Given the description of an element on the screen output the (x, y) to click on. 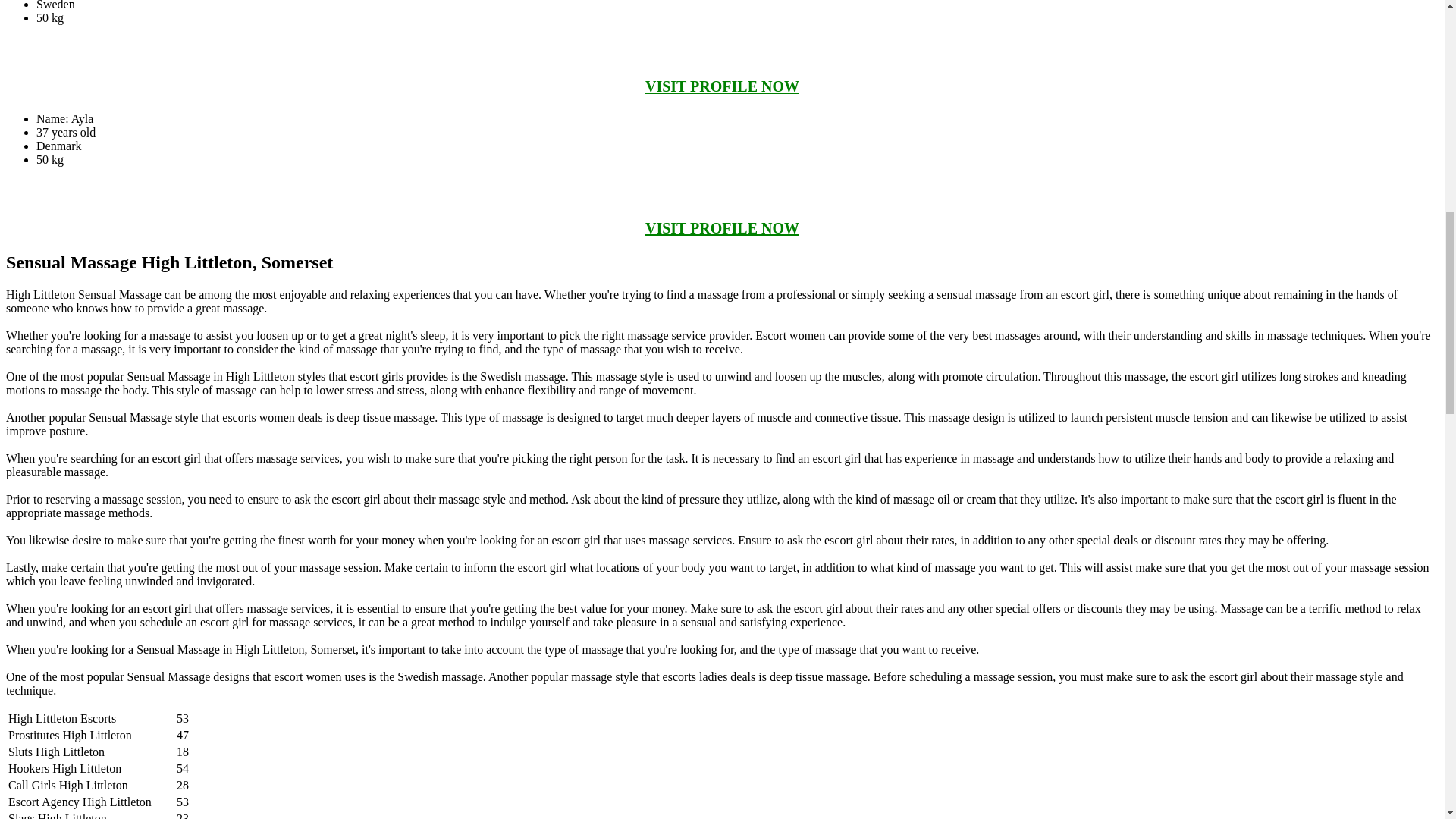
VISIT PROFILE NOW (722, 86)
VISIT PROFILE NOW (722, 228)
